Given the description of an element on the screen output the (x, y) to click on. 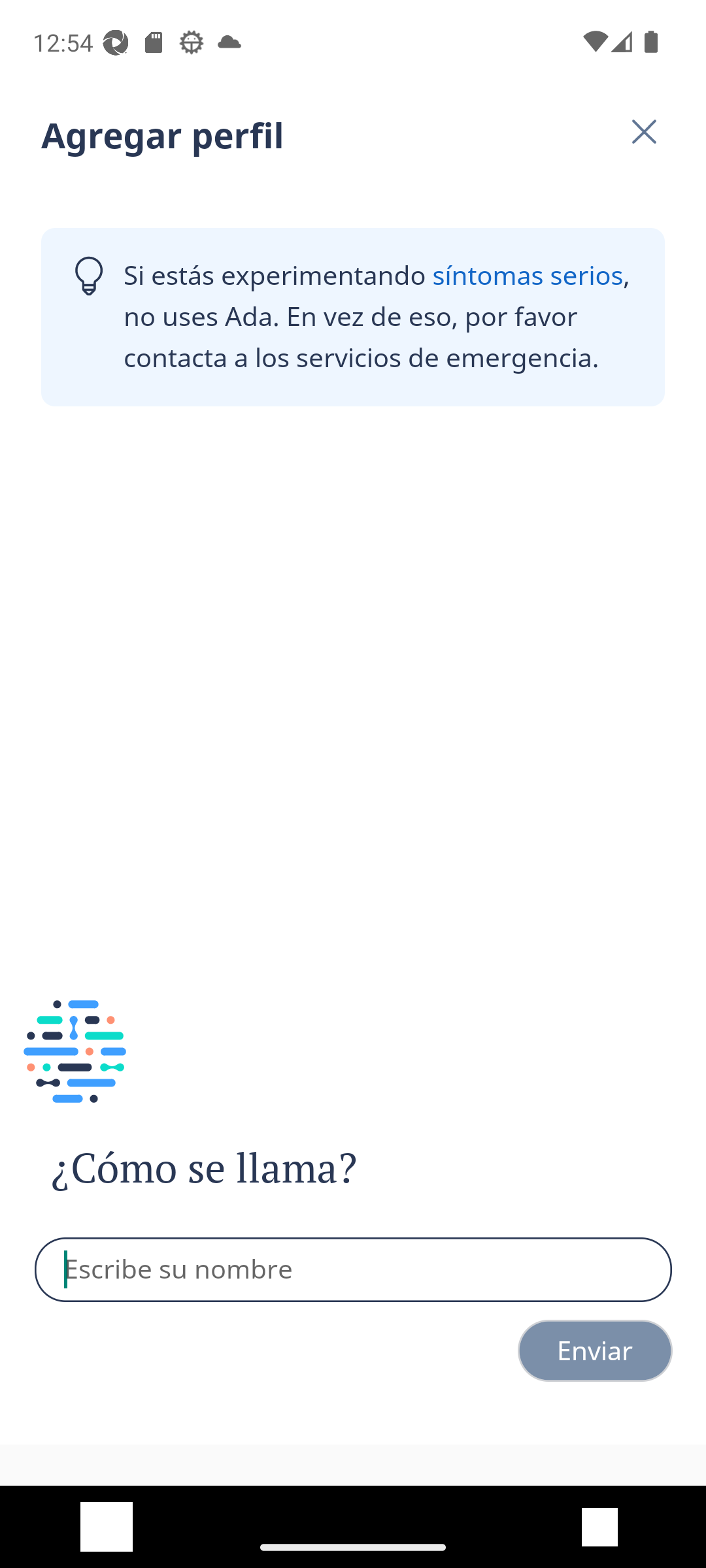
¿Cómo se llama? (240, 1168)
Escribe su nombre (353, 1269)
Enviar (594, 1349)
